Given the description of an element on the screen output the (x, y) to click on. 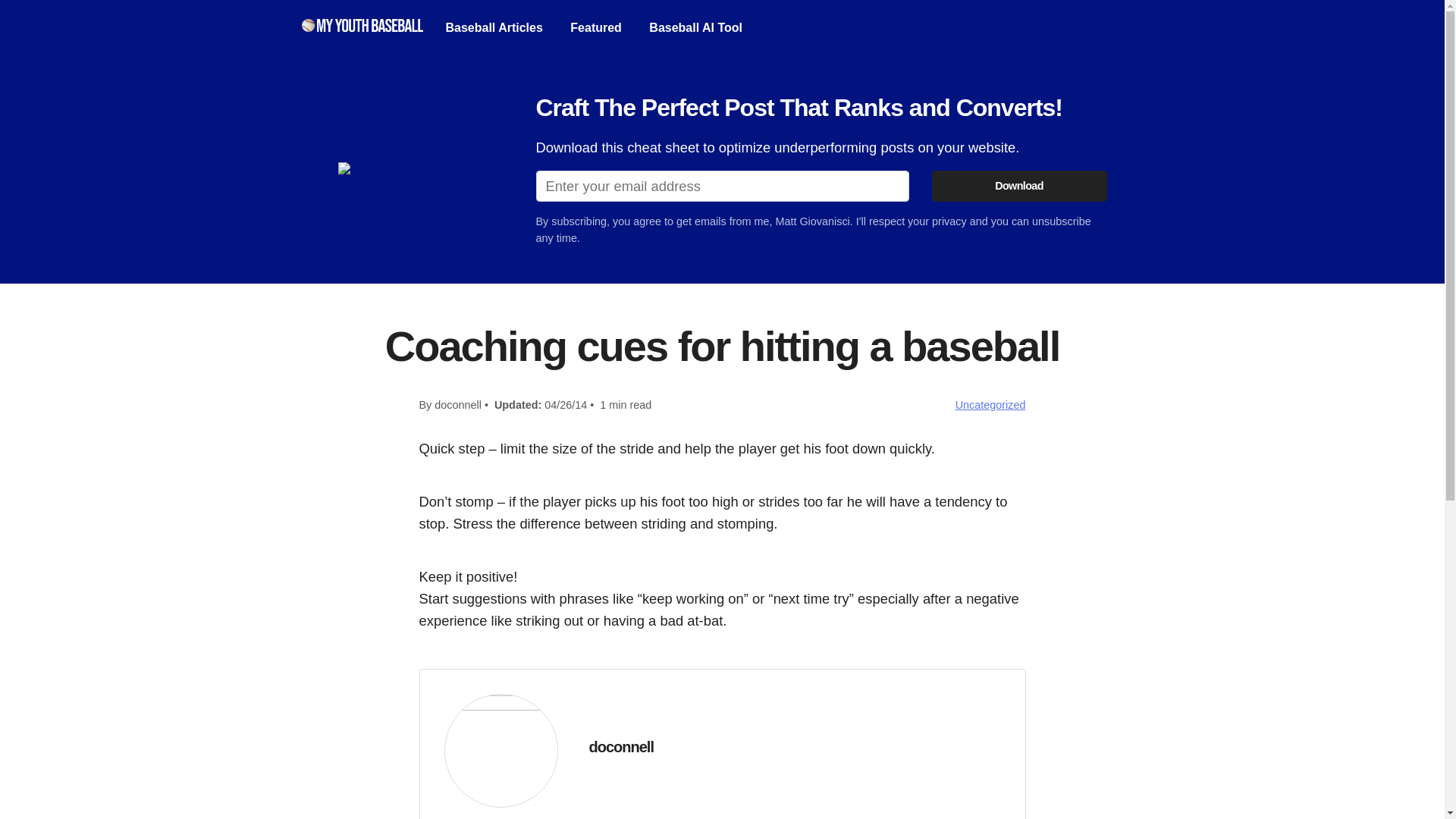
Uncategorized (990, 404)
Download (1018, 185)
Baseball AI Tool (695, 27)
Featured (595, 27)
Baseball Articles (494, 27)
